Given the description of an element on the screen output the (x, y) to click on. 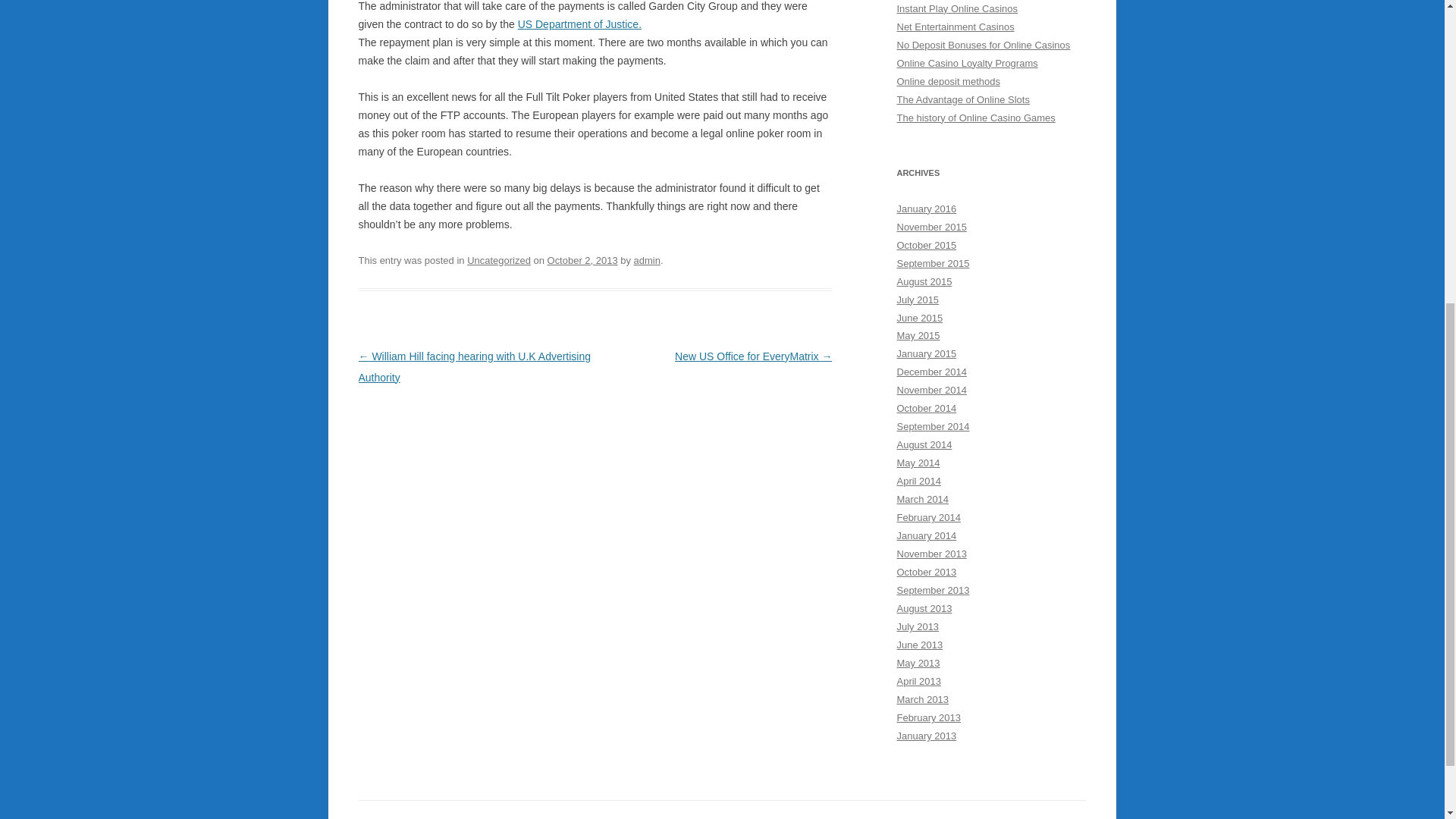
US Department of Justice. (580, 24)
US Department of Justice (580, 24)
Uncategorized (499, 260)
Net Entertainment Casinos (954, 26)
The history of Online Casino Games (975, 117)
View all posts by admin (647, 260)
October 2, 2013 (582, 260)
Online Casino Loyalty Programs (966, 62)
October 2015 (926, 244)
November 2015 (931, 226)
